Given the description of an element on the screen output the (x, y) to click on. 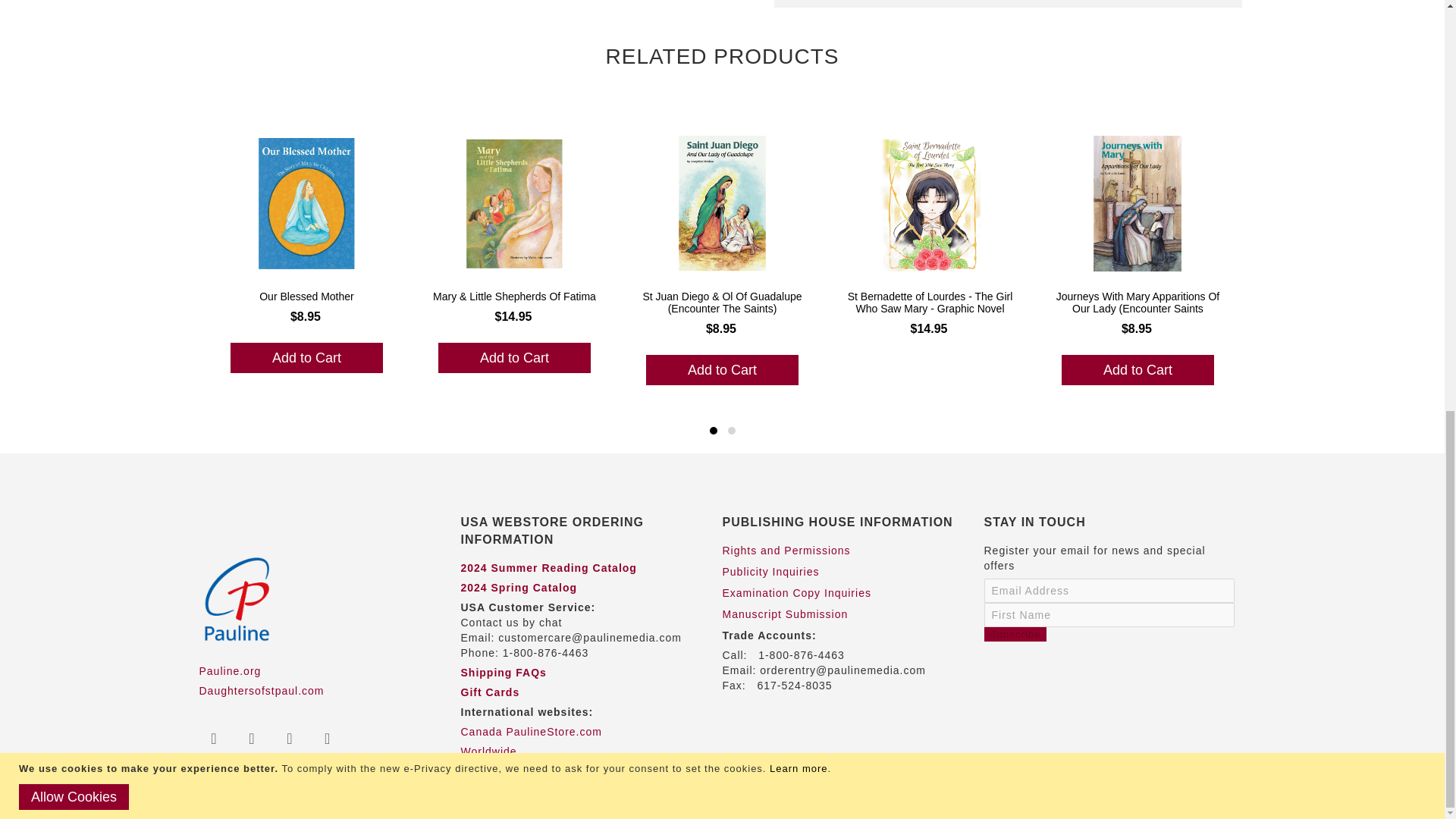
Subscribe (1015, 634)
